Given the description of an element on the screen output the (x, y) to click on. 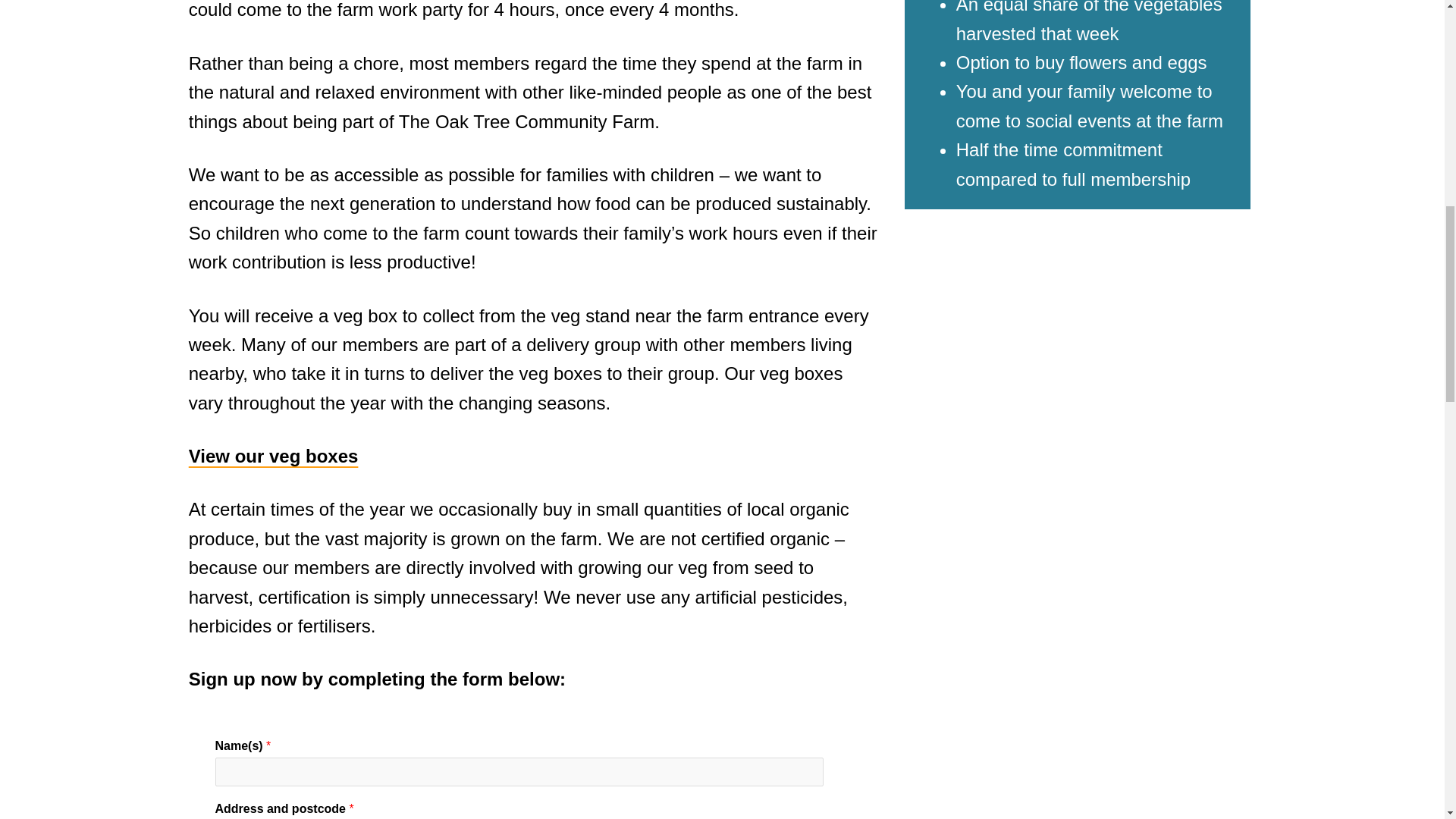
View our veg boxes (273, 455)
